Given the description of an element on the screen output the (x, y) to click on. 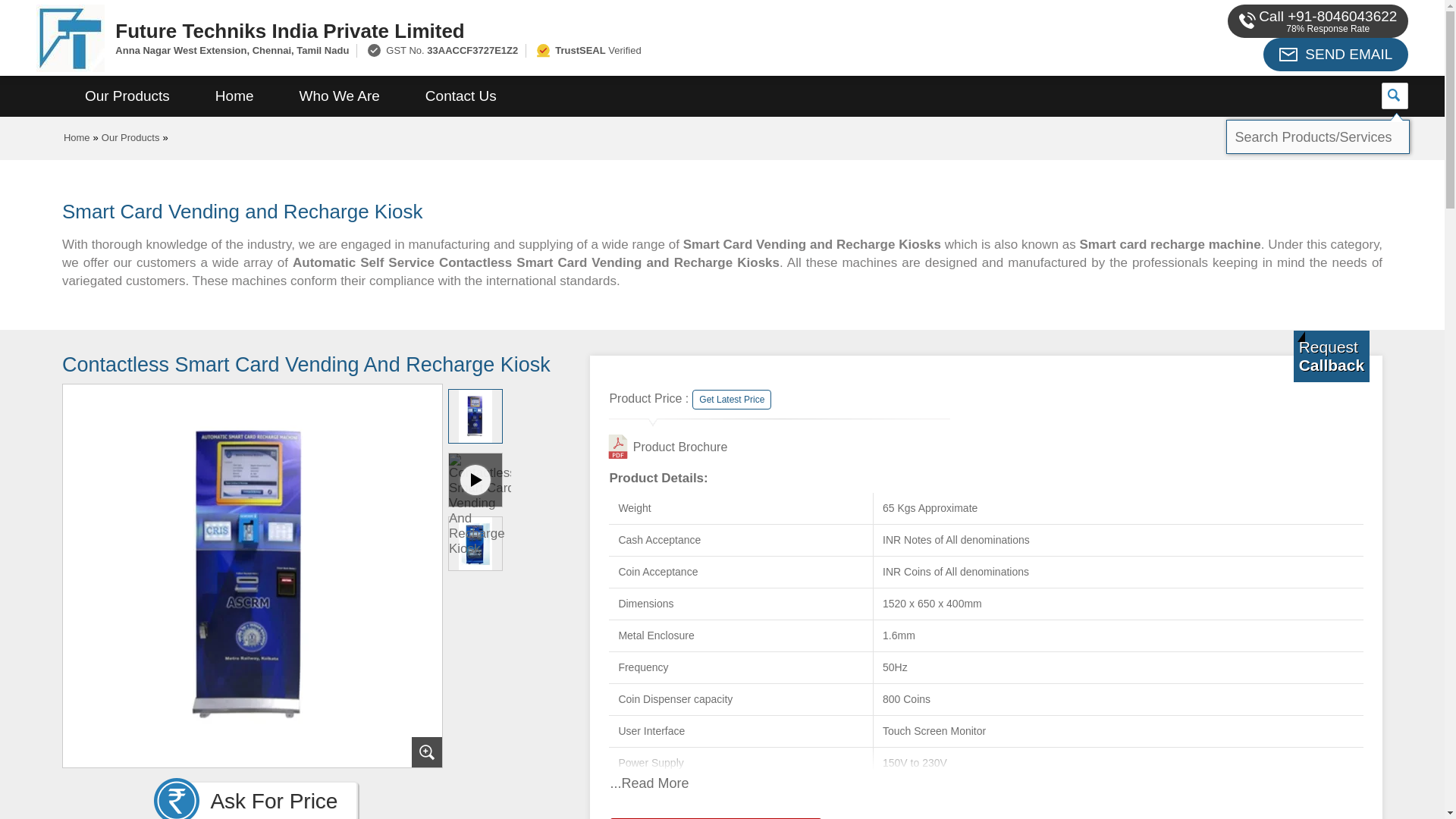
Home (234, 96)
Future Techniks India Private Limited (552, 31)
Get a Call from us (1332, 356)
Who We Are (339, 96)
Our Products (127, 96)
